Given the description of an element on the screen output the (x, y) to click on. 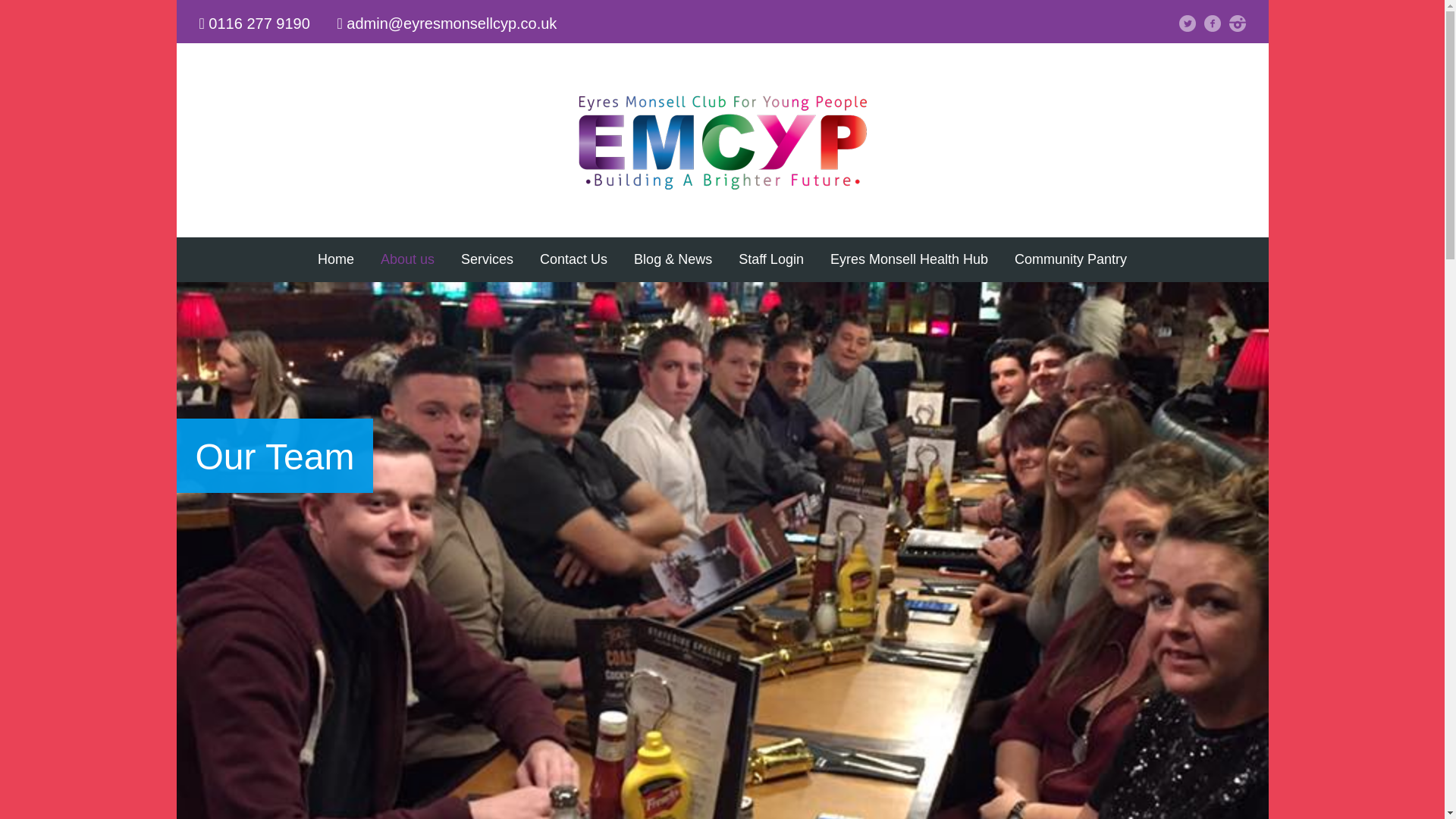
Contact Us (573, 259)
Community Pantry (1070, 259)
Services (486, 259)
Twitter (1187, 23)
Go to Home (721, 187)
instagram (1236, 23)
About us (407, 259)
facebook (1212, 23)
Eyres Monsell Health Hub (908, 259)
Home (335, 259)
